Given the description of an element on the screen output the (x, y) to click on. 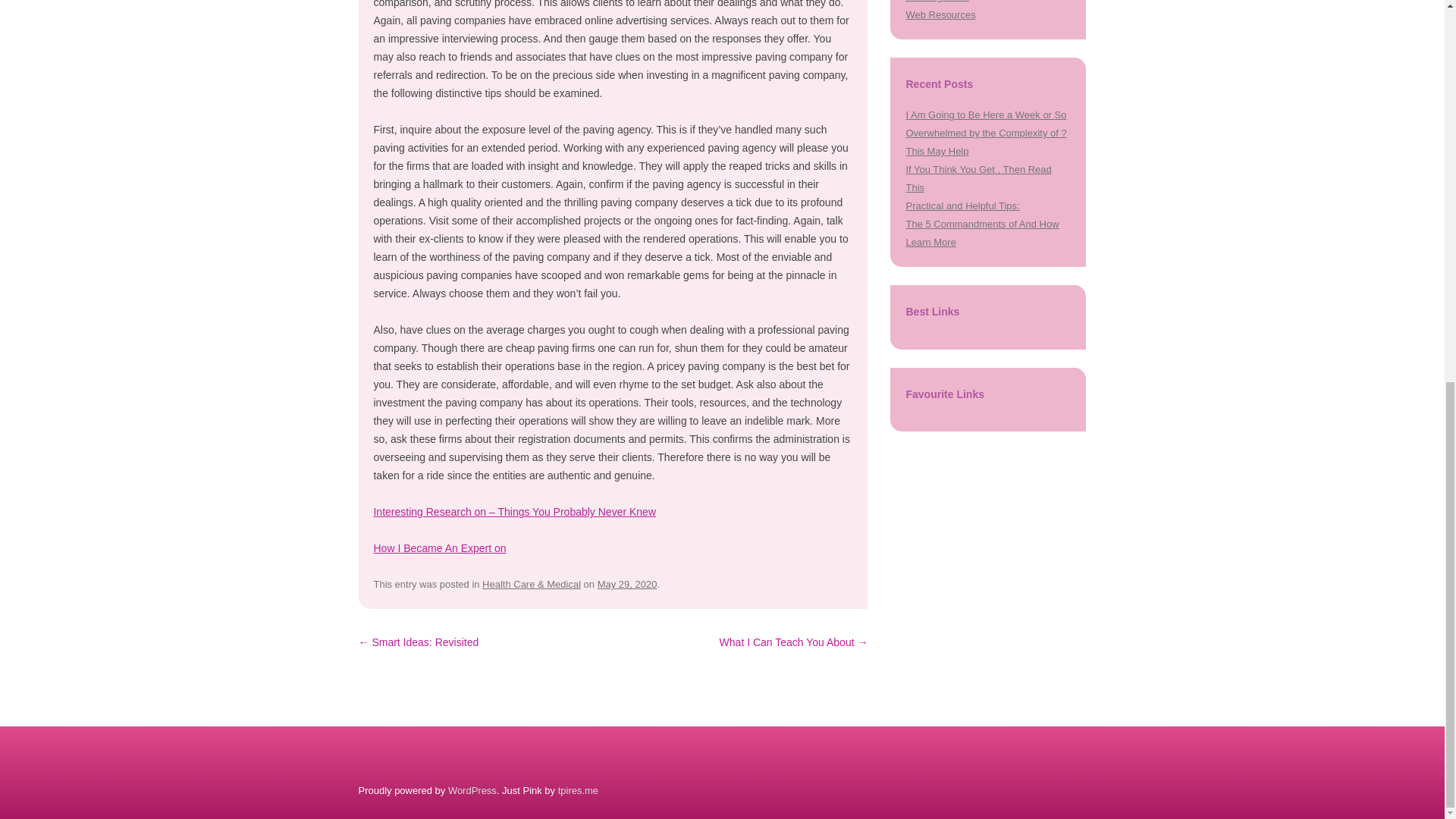
Web Resources (940, 14)
May 29, 2020 (627, 583)
Semantic Personal Publishing Platform (472, 790)
Overwhelmed by the Complexity of ? This May Help (985, 142)
10:05 pm (627, 583)
If You Think You Get , Then Read This (978, 178)
Uncategorized (937, 1)
How I Became An Expert on (438, 548)
I Am Going to Be Here a Week or So (985, 114)
